Given the description of an element on the screen output the (x, y) to click on. 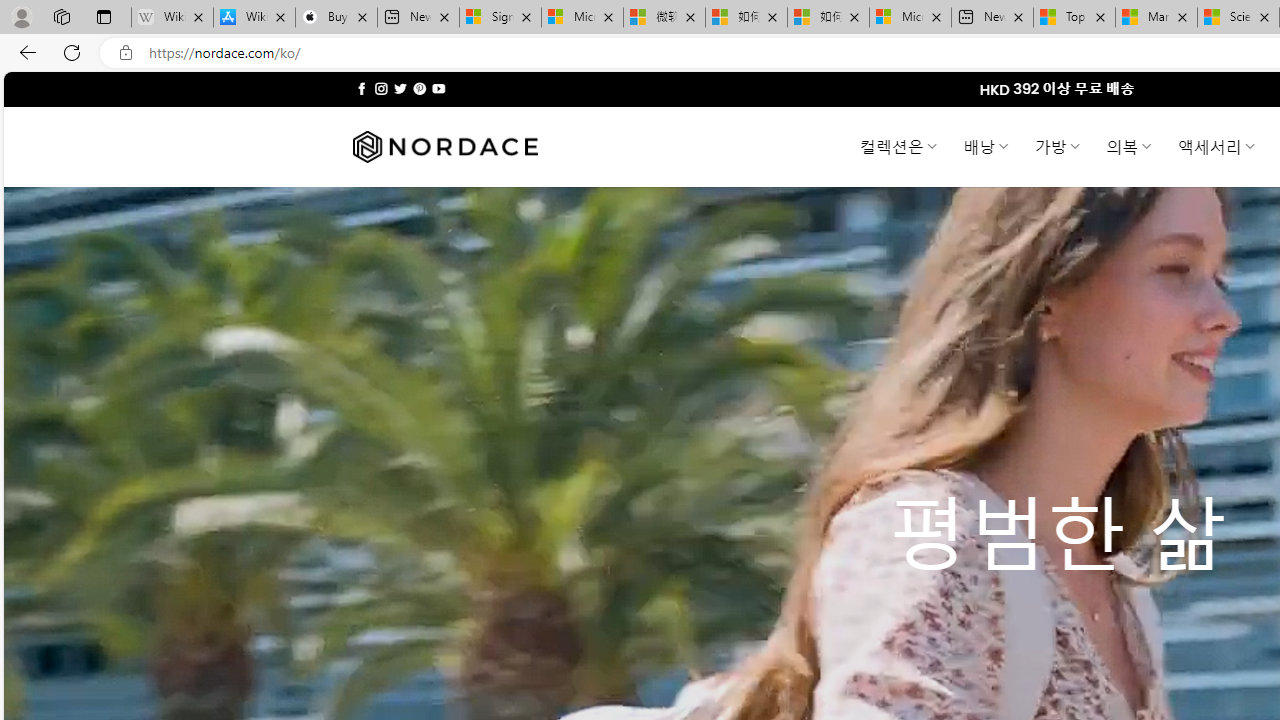
Microsoft account | Account Checkup (910, 17)
Buy iPad - Apple (336, 17)
Follow on Twitter (400, 88)
Wikipedia - Sleeping (171, 17)
Microsoft Services Agreement (582, 17)
